Given the description of an element on the screen output the (x, y) to click on. 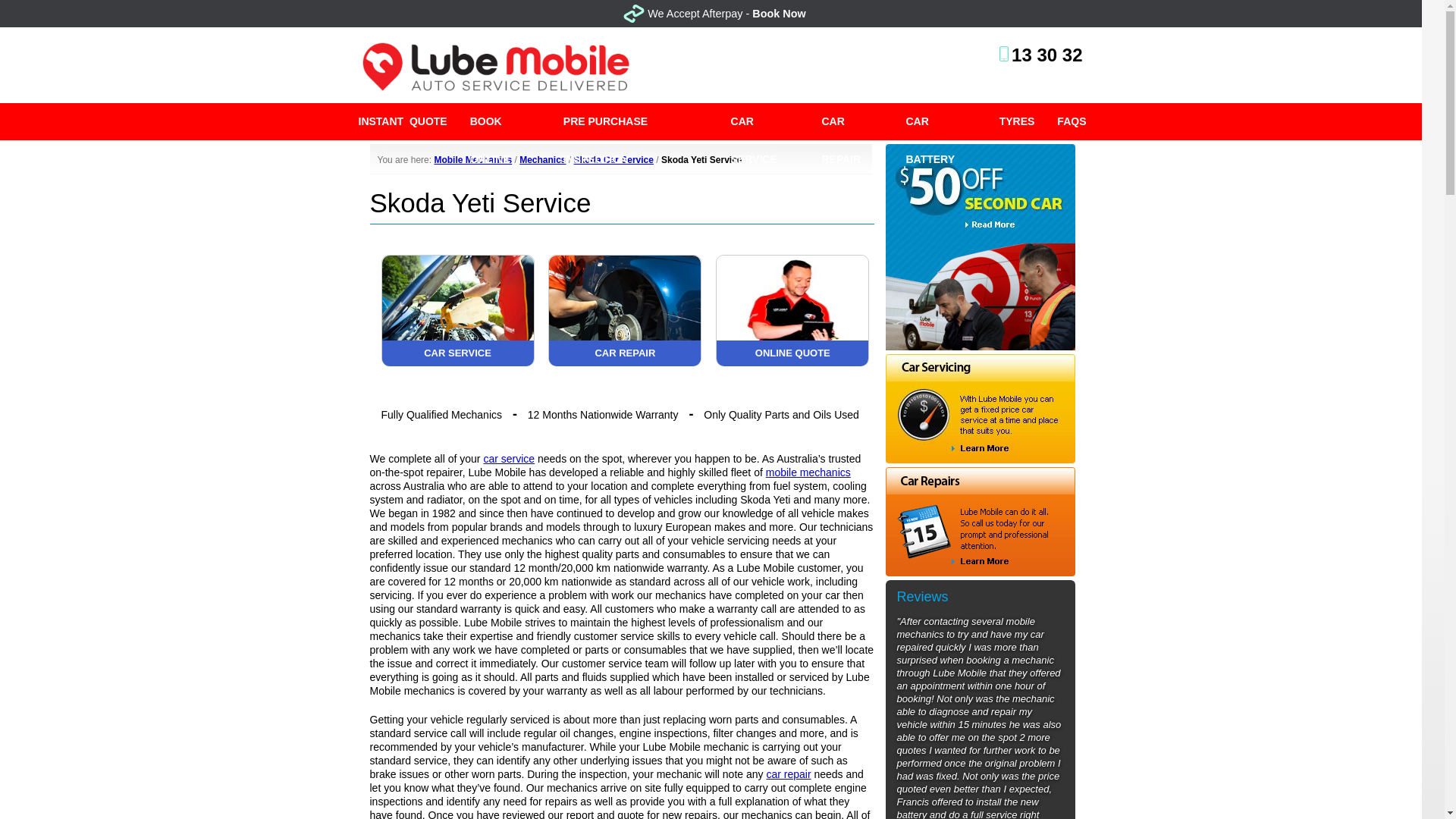
CAR BATTERY (941, 121)
Mobile Mechanics (472, 159)
CAR SERVICE (457, 361)
ONLINE QUOTE (791, 361)
INSTANT  QUOTE (402, 121)
CAR REPAIR (624, 361)
mobile mechanics (807, 472)
Mechanics (542, 159)
Skoda Car Service (613, 159)
Book Now (778, 13)
TYRES (1017, 121)
car service (508, 458)
car repair (787, 774)
CAR SERVICE (764, 121)
CAR REPAIR (851, 121)
